Given the description of an element on the screen output the (x, y) to click on. 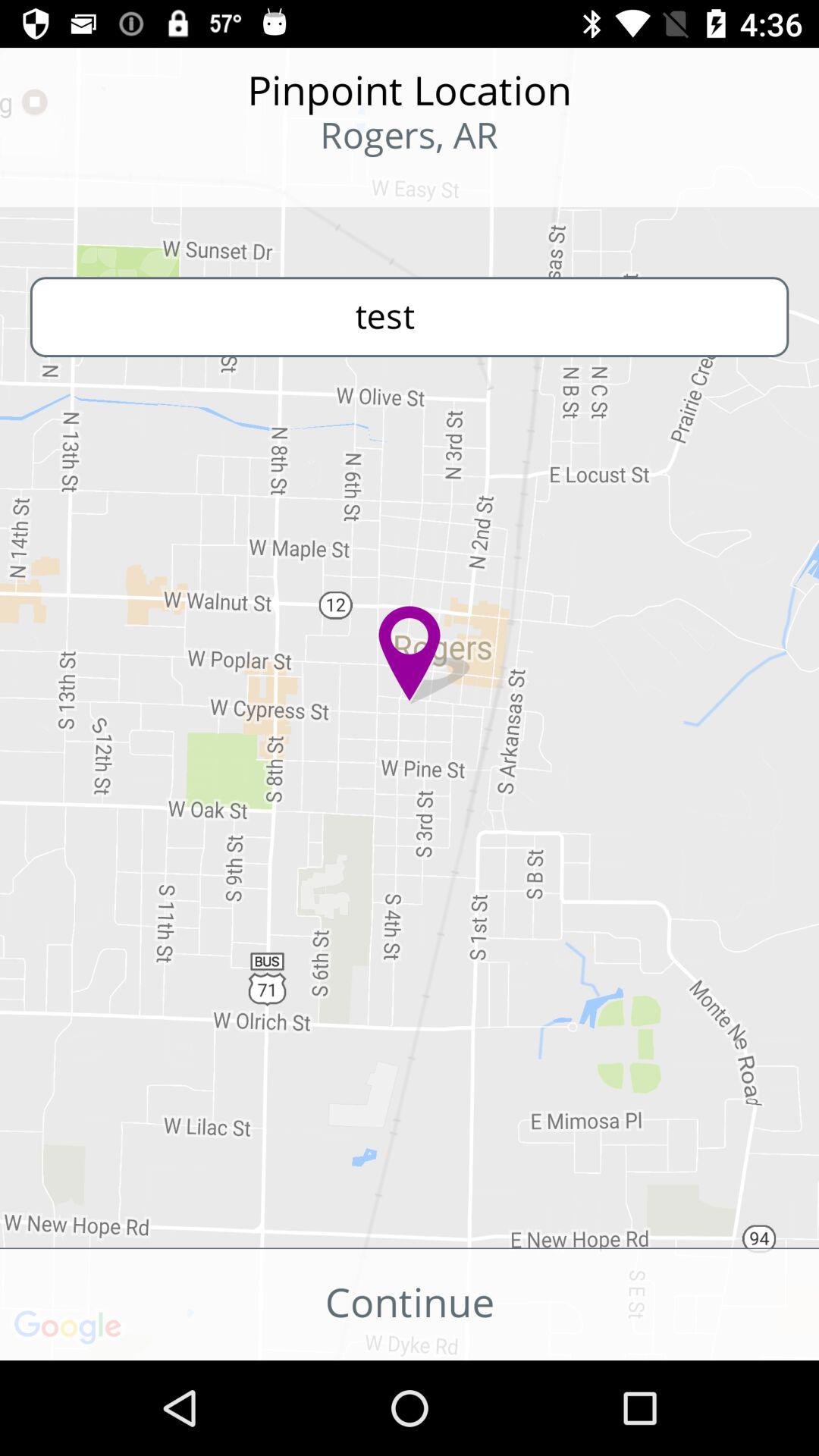
turn on item above get more accurate (409, 316)
